Given the description of an element on the screen output the (x, y) to click on. 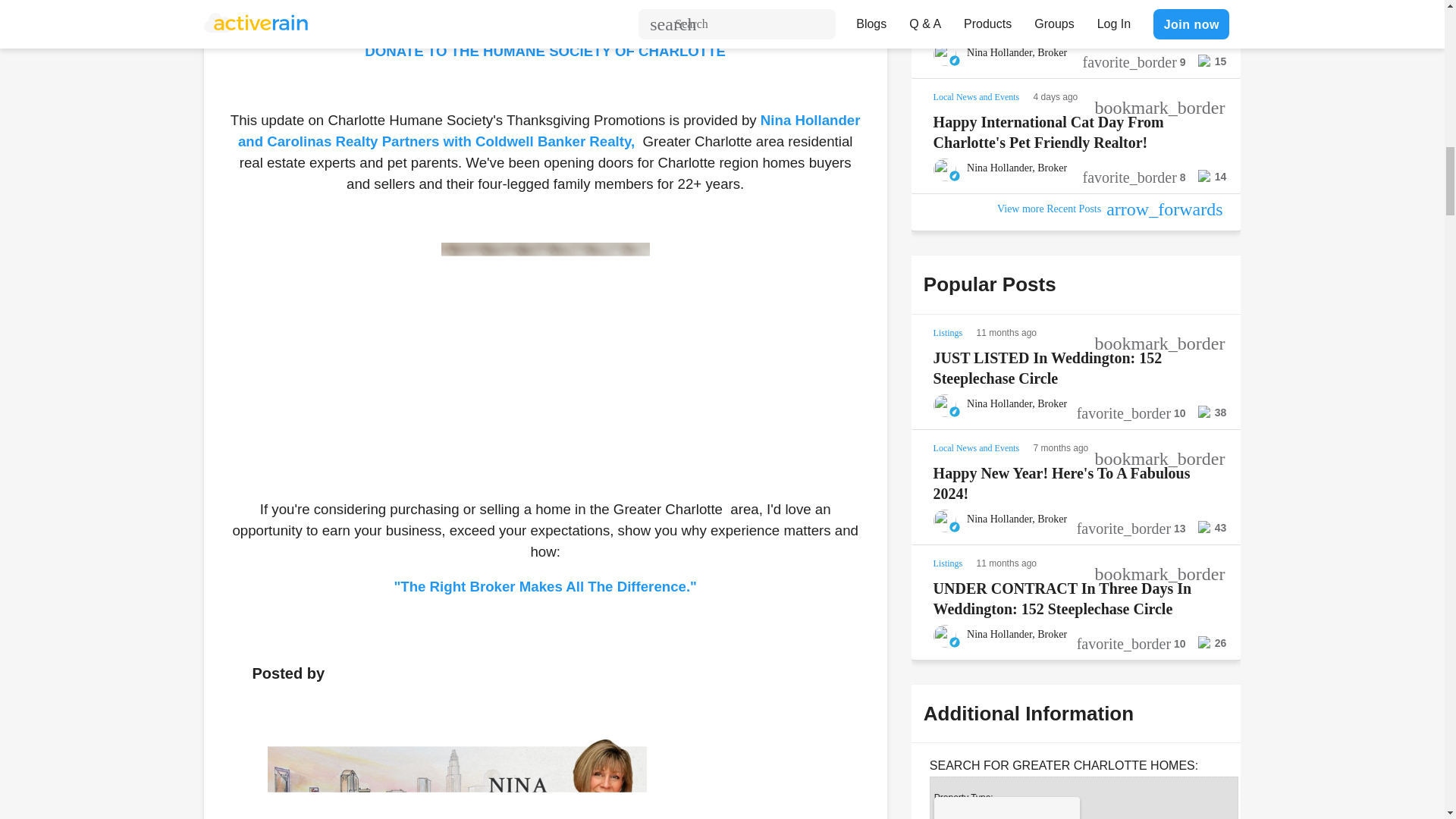
DONATE TO THE HUMANE SOCIETY OF CHARLOTTE (545, 51)
"The Right Broker Makes All The Difference." (545, 586)
